Given the description of an element on the screen output the (x, y) to click on. 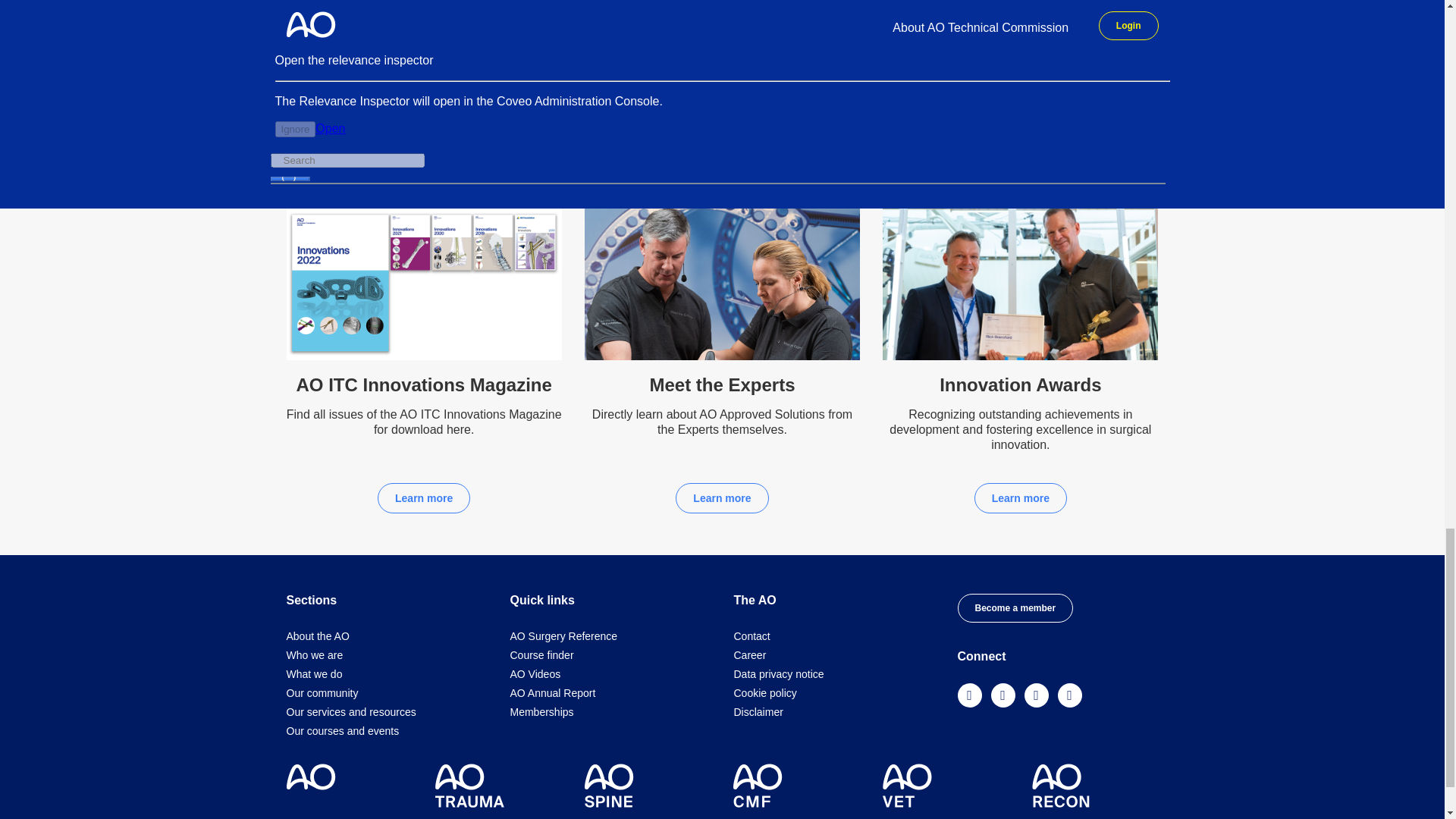
What we do (314, 674)
Data privacy notice (778, 674)
Our community (322, 693)
Course finder (541, 654)
AO Surgery Reference (563, 635)
Contact (751, 635)
Our courses and events (342, 730)
Disclaimer (758, 711)
Twitter (1035, 696)
Linkedin (1002, 696)
